Given the description of an element on the screen output the (x, y) to click on. 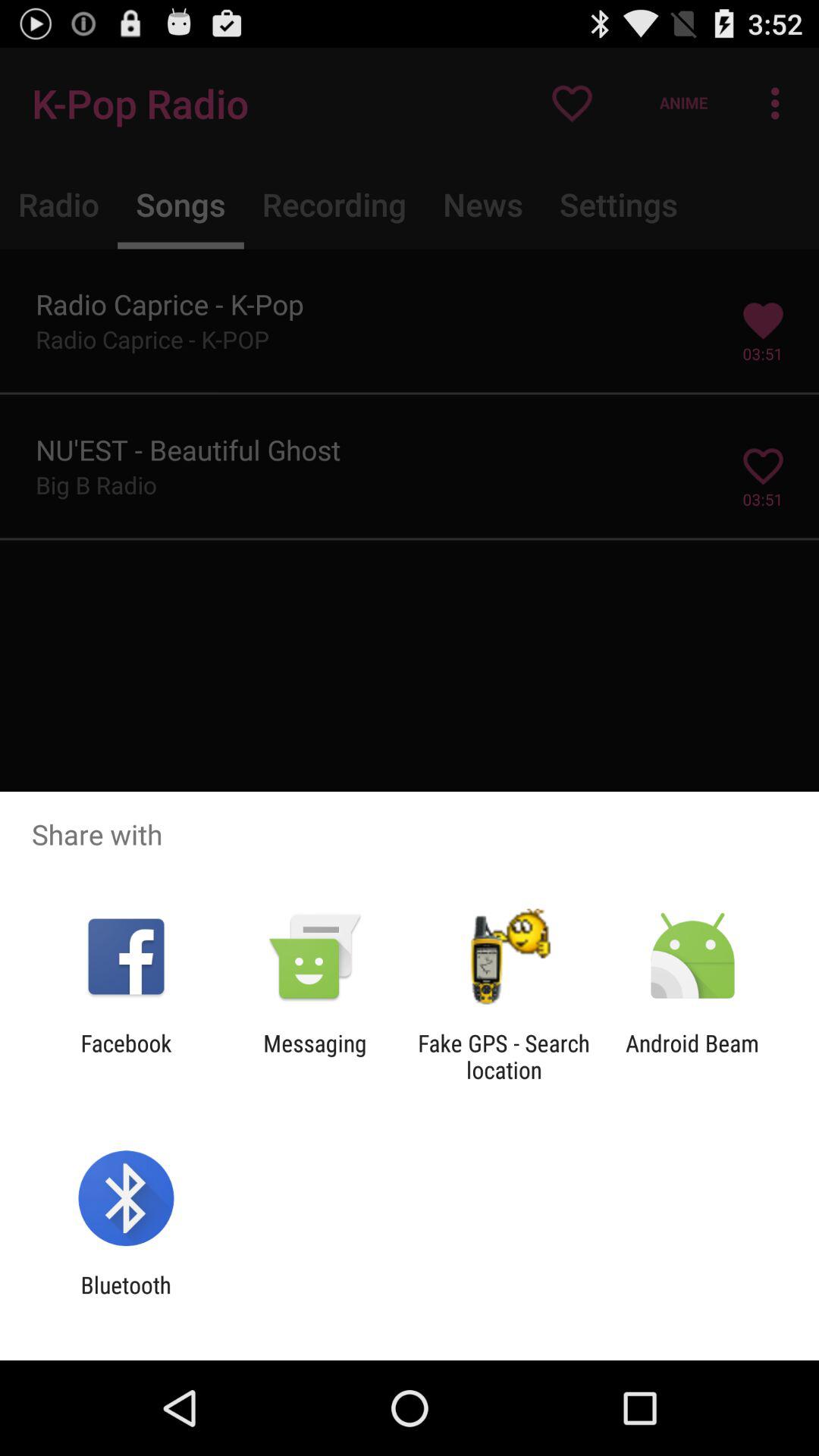
turn on icon to the left of android beam (503, 1056)
